Given the description of an element on the screen output the (x, y) to click on. 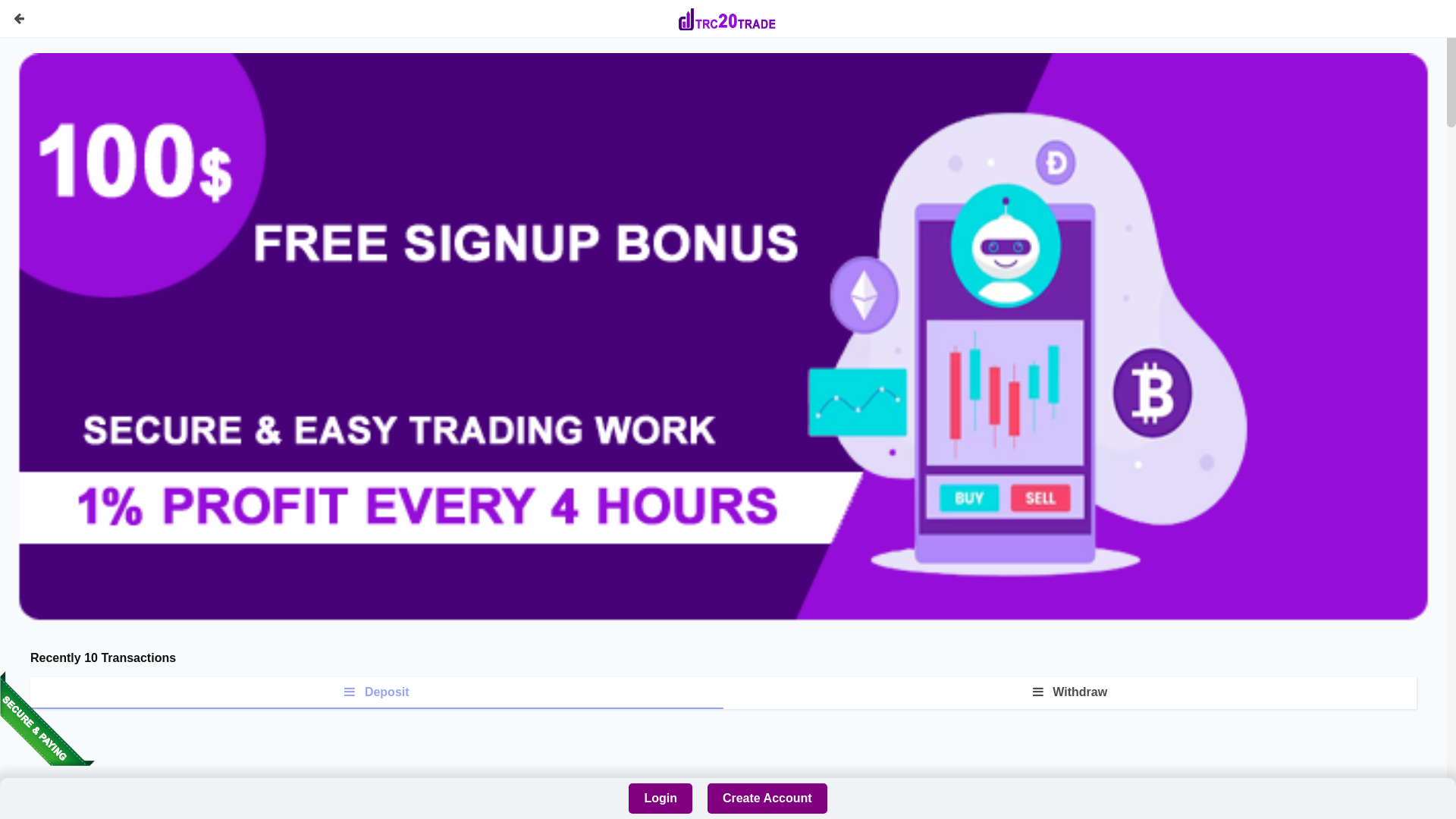
Login Element type: text (660, 798)
Withdraw Element type: text (1069, 692)
Deposit Element type: text (376, 693)
Create Account Element type: text (767, 798)
